Given the description of an element on the screen output the (x, y) to click on. 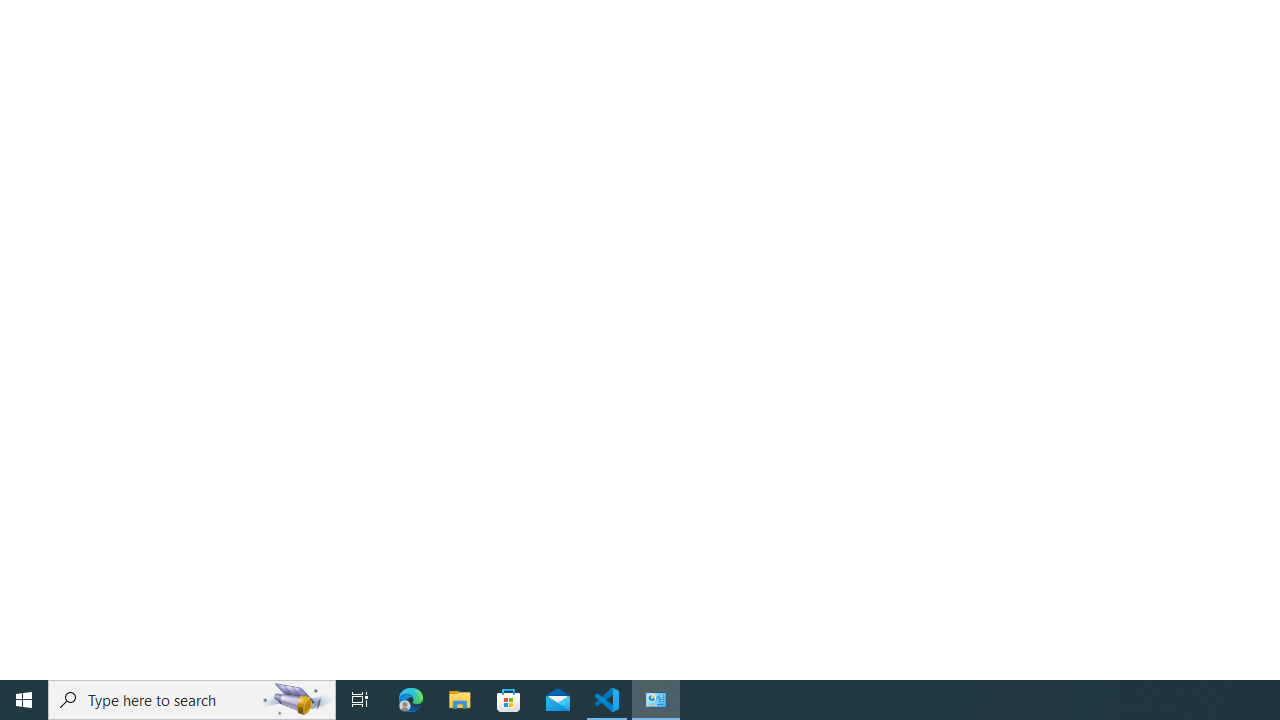
Microsoft Edge (411, 699)
Task View (359, 699)
Search highlights icon opens search home window (295, 699)
Microsoft Store (509, 699)
Type here to search (191, 699)
Control Panel - 1 running window (656, 699)
Start (24, 699)
Visual Studio Code - 1 running window (607, 699)
File Explorer (460, 699)
